Given the description of an element on the screen output the (x, y) to click on. 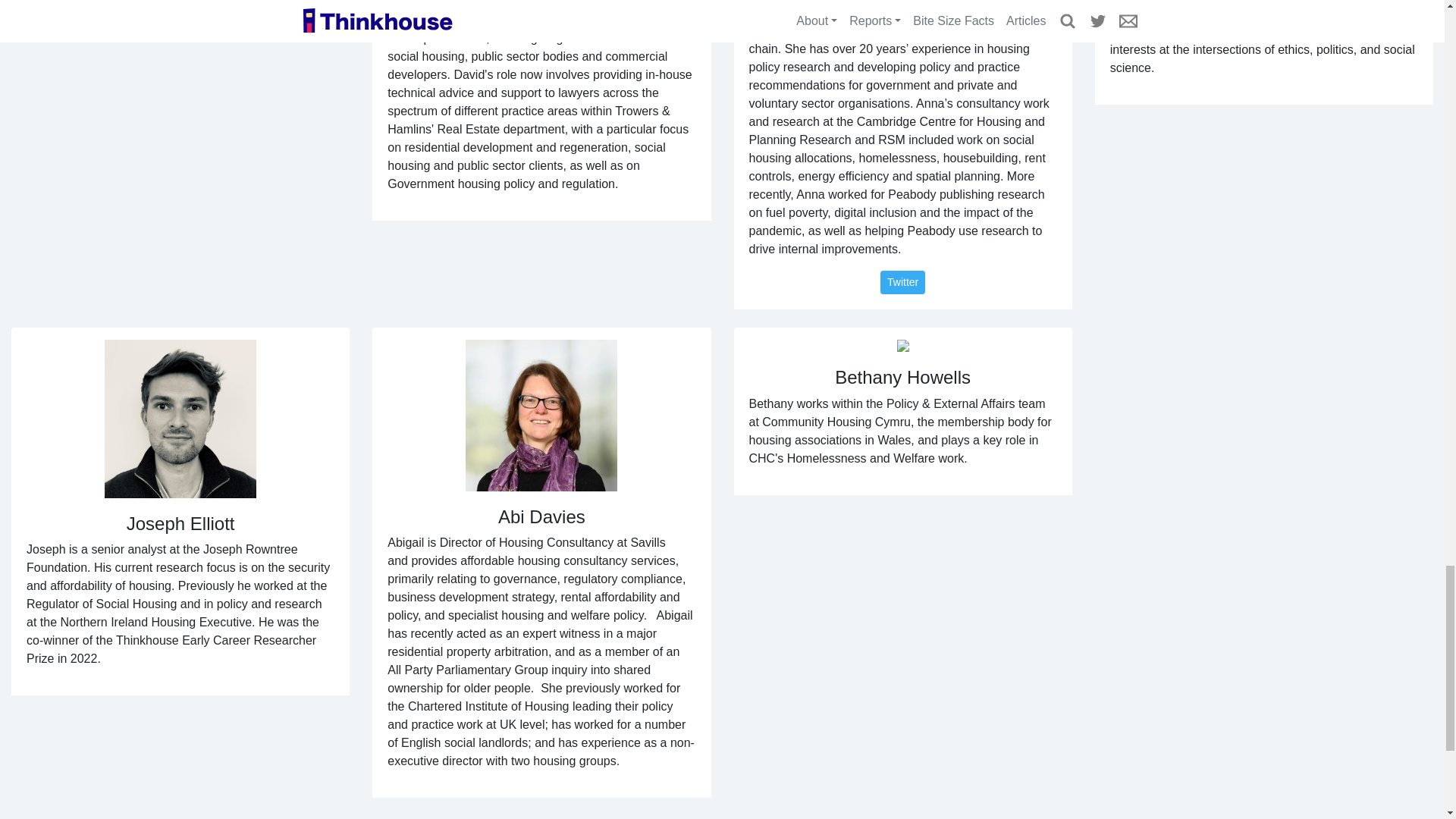
Twitter (902, 282)
